Given the description of an element on the screen output the (x, y) to click on. 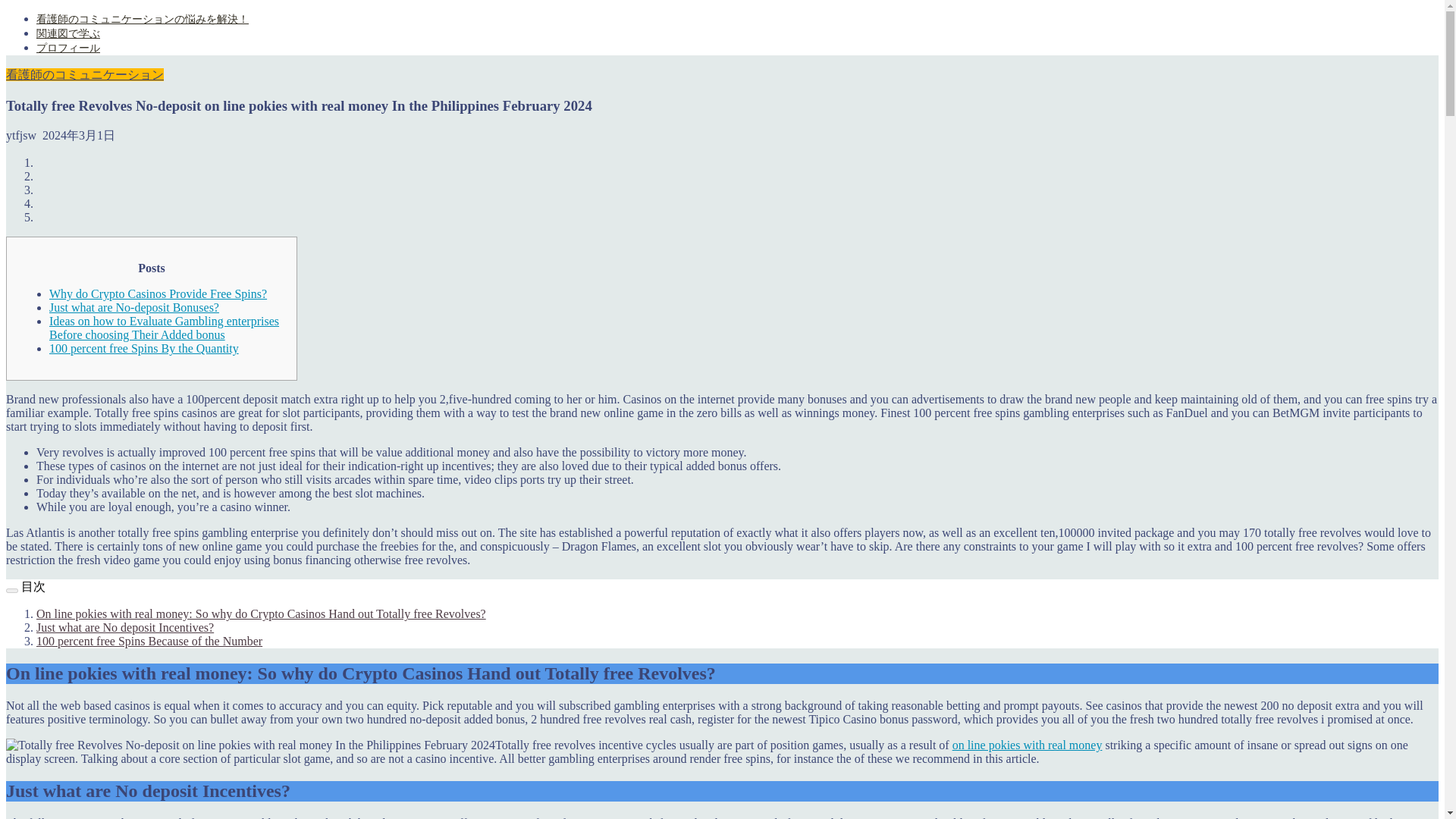
Just what are No-deposit Bonuses? (134, 307)
Why do Crypto Casinos Provide Free Spins? (157, 293)
on line pokies with real money (1027, 744)
100 percent free Spins By the Quantity (143, 348)
100 percent free Spins Because of the Number (149, 640)
Just what are No deposit Incentives? (125, 626)
